Given the description of an element on the screen output the (x, y) to click on. 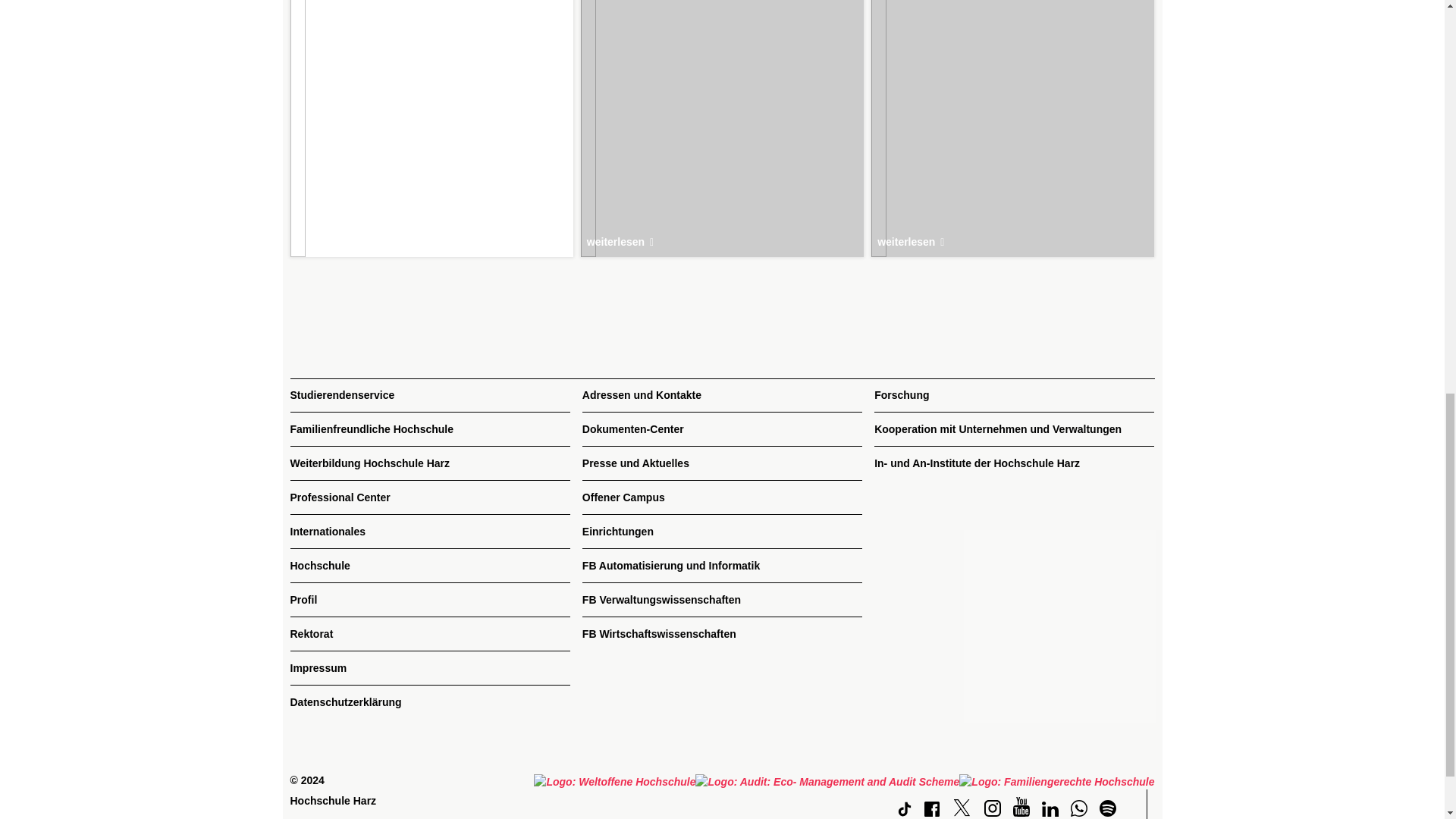
Familienfreundliche Hochschule (429, 429)
Impressum (429, 668)
Internationales (429, 531)
Adressen und Kontakte (721, 395)
Professional Center (429, 497)
Hochschule (429, 565)
Studierendenservice (429, 395)
Profil (429, 600)
Weiterbildung Hochschule Harz (429, 463)
Rektorat (429, 634)
